Given the description of an element on the screen output the (x, y) to click on. 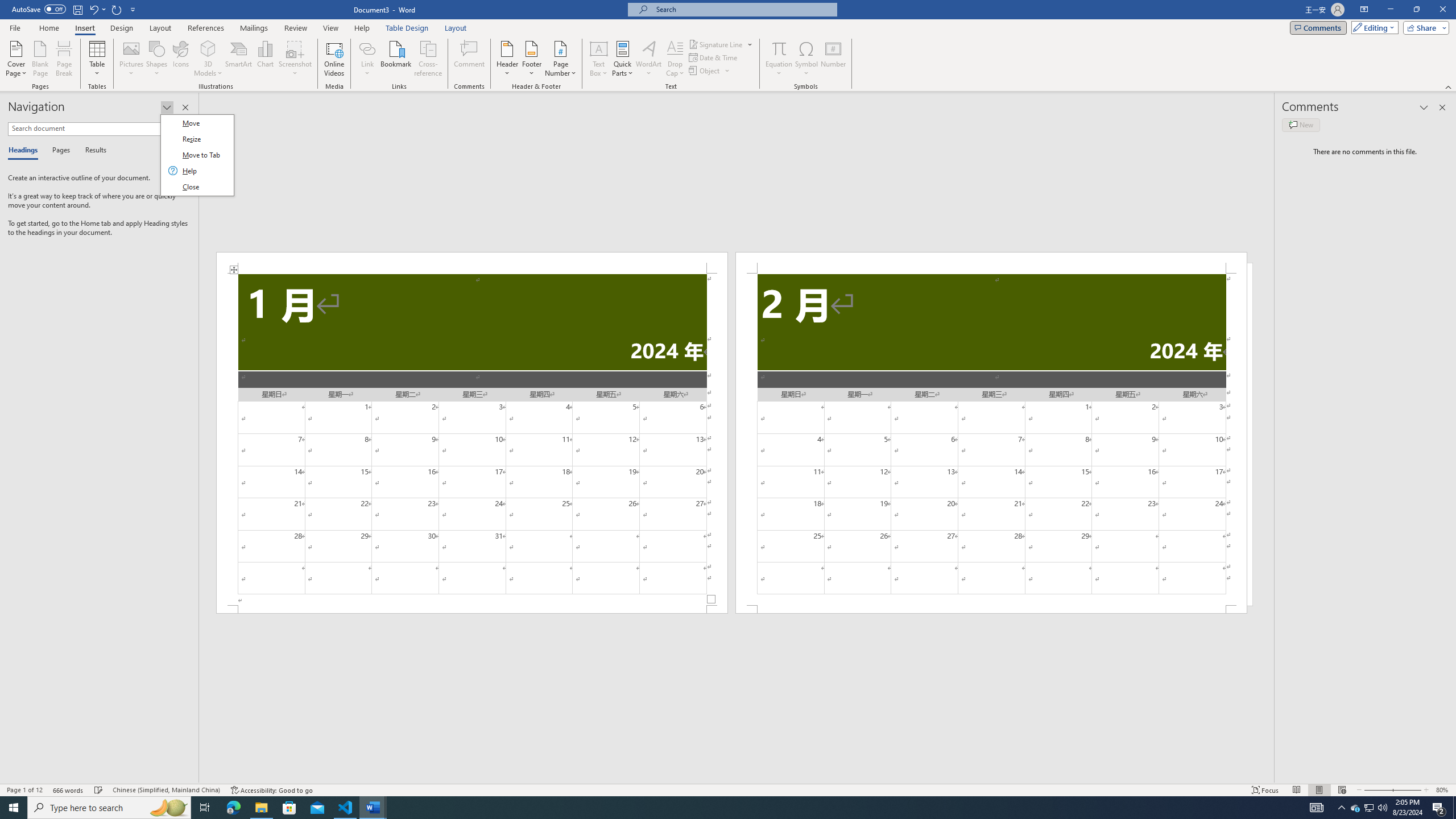
Word Count 666 words (68, 790)
Task View (204, 807)
Drop Cap (674, 58)
Cover Page (16, 58)
Signature Line (716, 44)
Search highlights icon opens search home window (167, 807)
Object... (709, 69)
Chart... (265, 58)
User Promoted Notification Area (1368, 807)
Running applications (717, 807)
Quick Parts (622, 58)
